Given the description of an element on the screen output the (x, y) to click on. 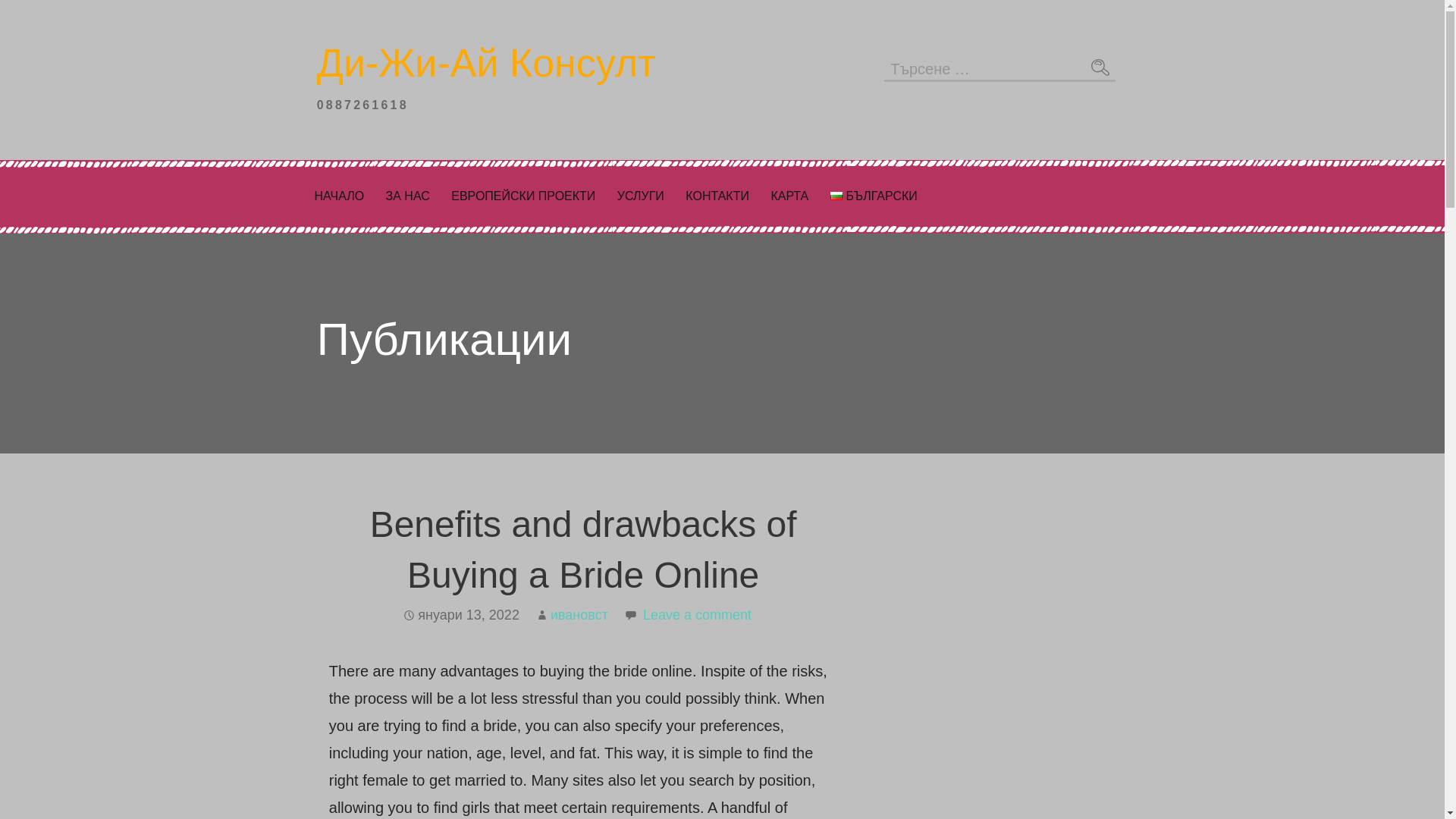
Leave a comment (697, 614)
